Given the description of an element on the screen output the (x, y) to click on. 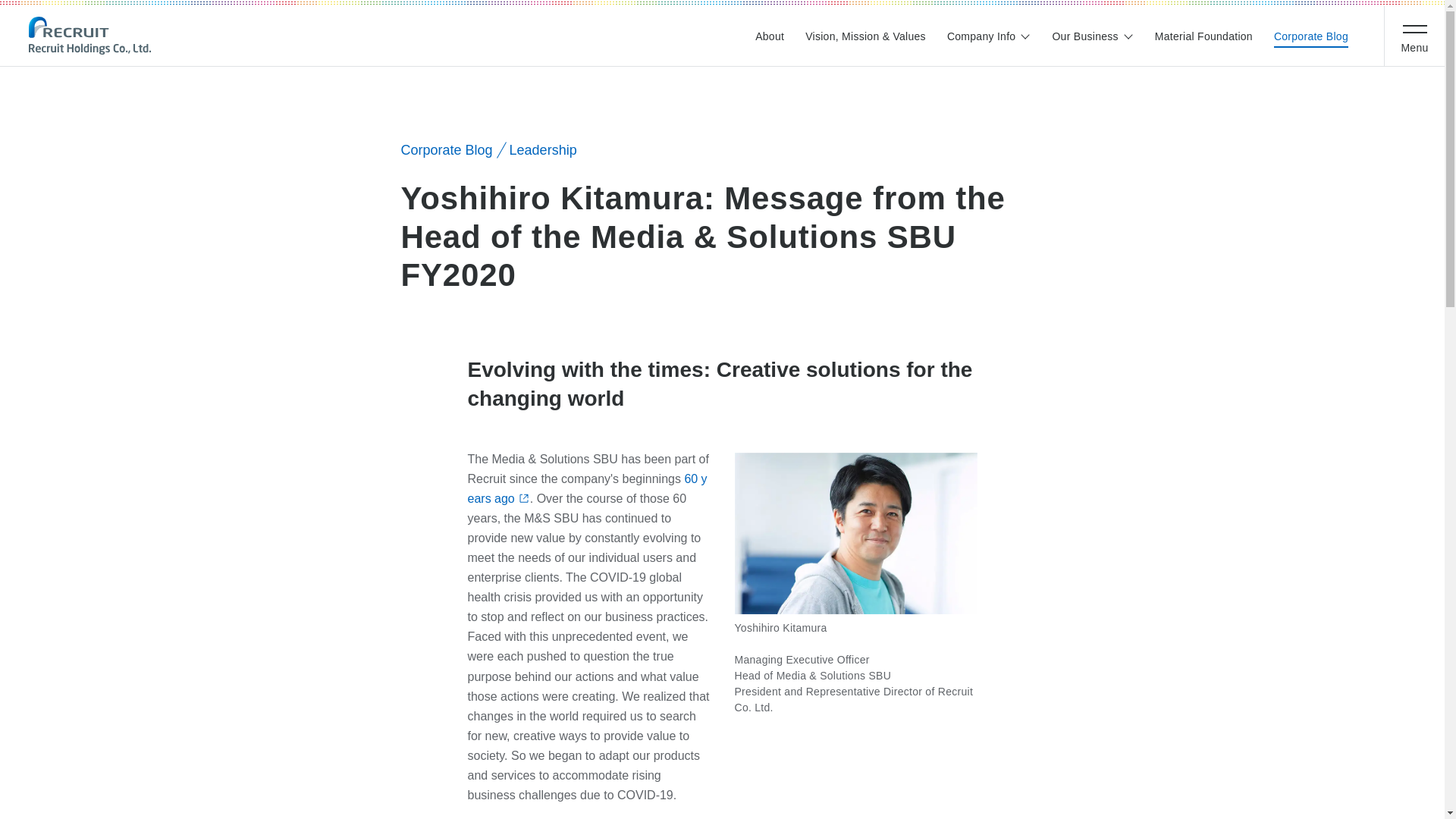
Material Foundation (1203, 36)
Corporate Blog (1311, 36)
Company Info (988, 36)
About (769, 36)
Our Business (1091, 36)
